Given the description of an element on the screen output the (x, y) to click on. 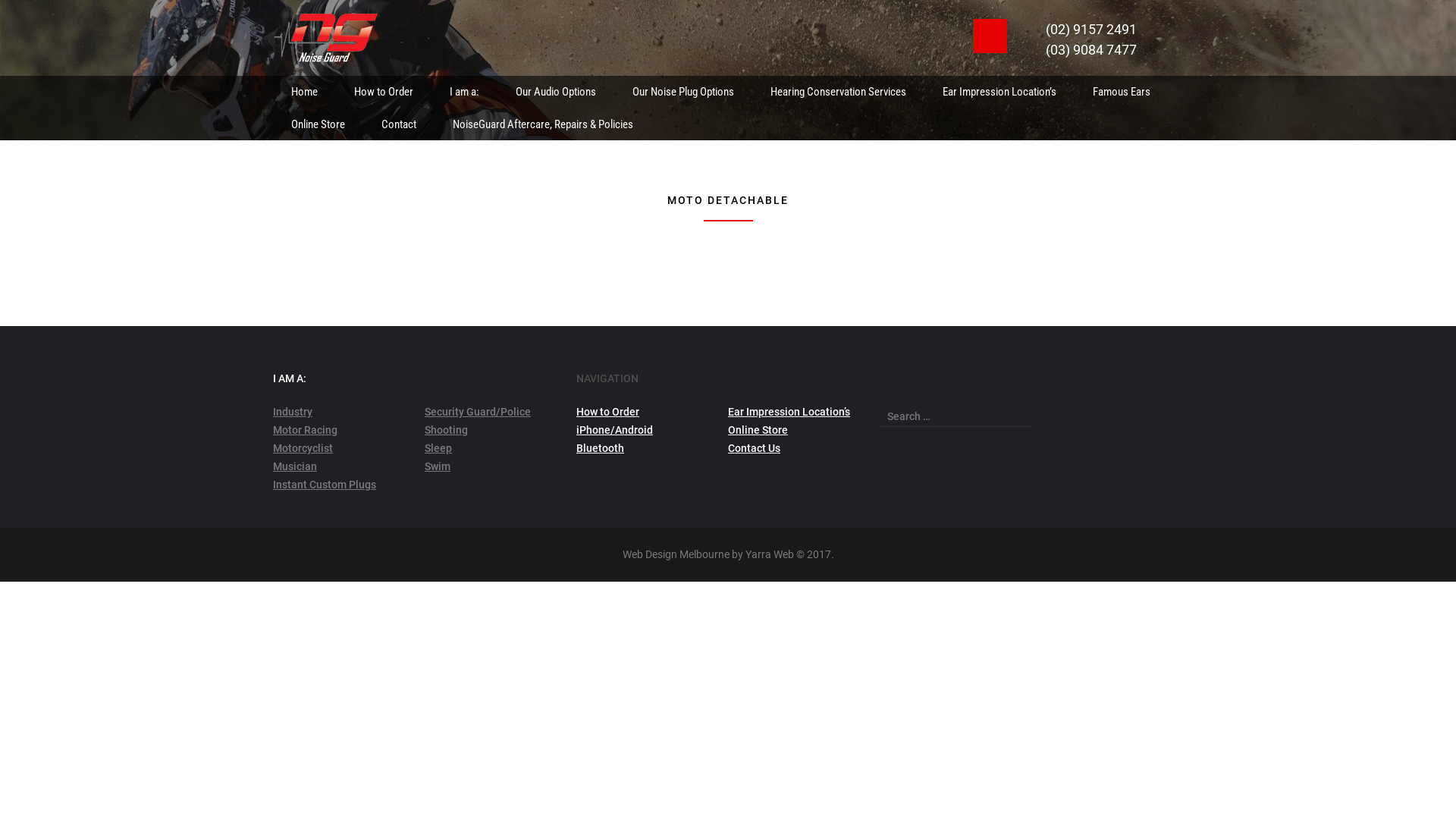
How to Order Element type: text (607, 411)
Contact Element type: text (398, 123)
NoiseGuard Aftercare, Repairs & Policies Element type: text (542, 123)
I am a: Element type: text (464, 91)
iPhone/Android Element type: text (614, 429)
Security Guard/Police Element type: text (477, 411)
Our Noise Plug Options Element type: text (683, 91)
Sleep Element type: text (437, 448)
Swim Element type: text (437, 466)
Motorcyclist Element type: text (302, 448)
Online Store Element type: text (318, 123)
Search Element type: text (24, 9)
Shooting Element type: text (445, 429)
Instant Custom Plugs Element type: text (324, 484)
Online Store Element type: text (757, 429)
How to Order Element type: text (383, 91)
(03) 9084 7477 Element type: text (1087, 49)
Contact Us Element type: text (754, 448)
Famous Ears Element type: text (1121, 91)
Hearing Conservation Services Element type: text (838, 91)
Bluetooth Element type: text (600, 448)
Musician Element type: text (294, 466)
(02) 9157 2491 Element type: text (1087, 29)
Motor Racing Element type: text (305, 429)
Industry Element type: text (292, 411)
Home Element type: text (304, 91)
Our Audio Options Element type: text (555, 91)
